Given the description of an element on the screen output the (x, y) to click on. 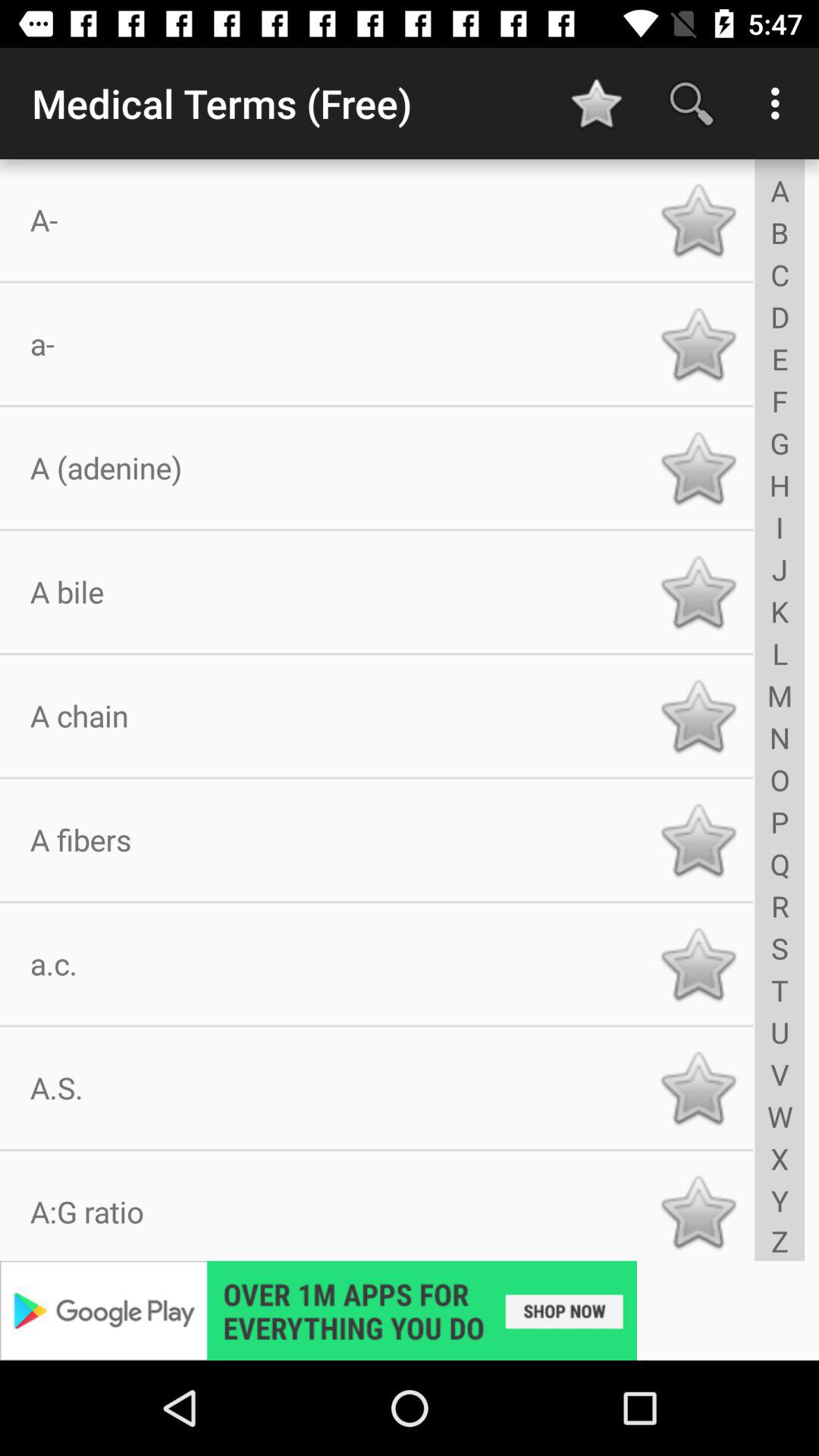
sign it as favorite (697, 839)
